Given the description of an element on the screen output the (x, y) to click on. 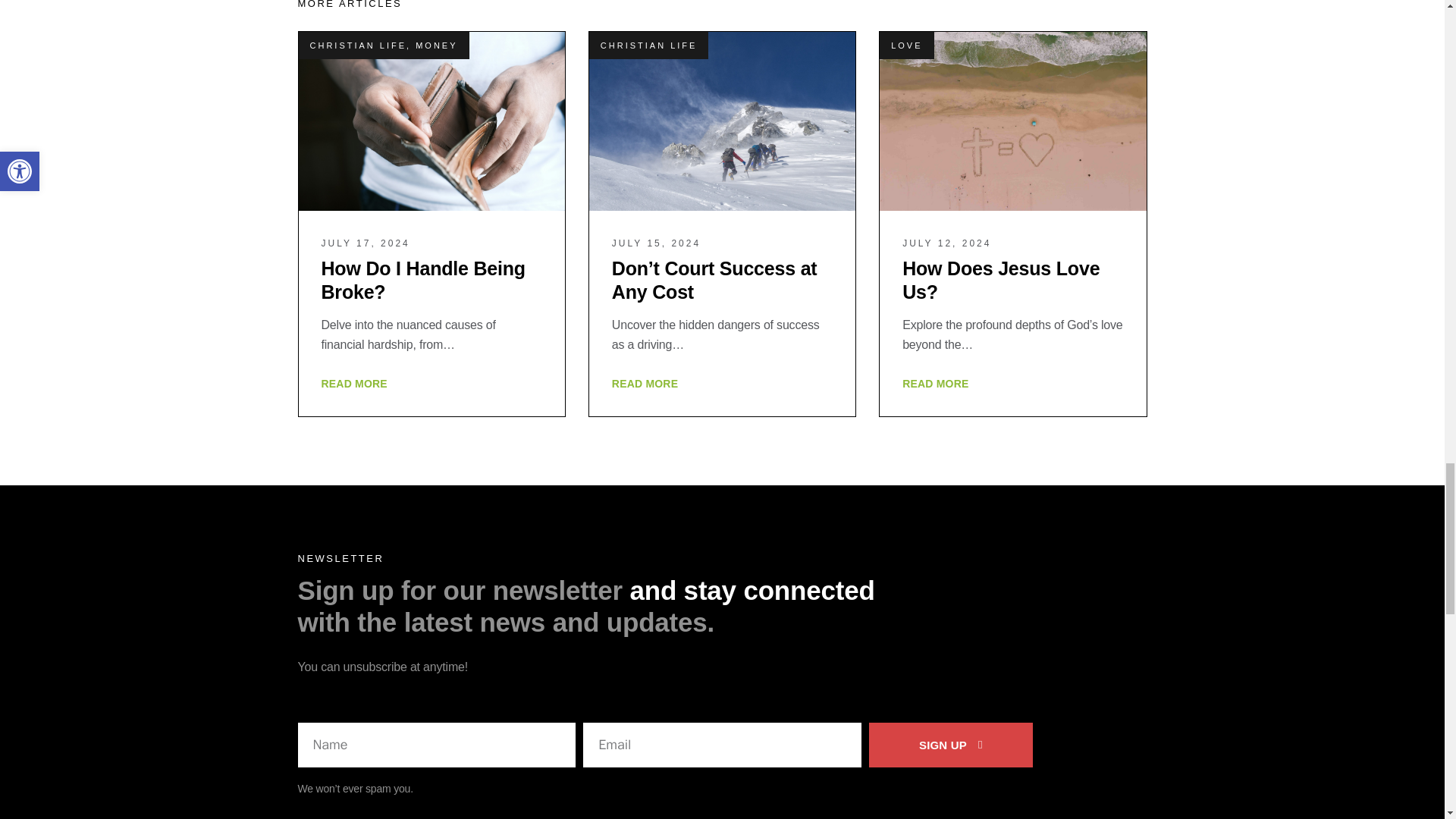
CHRISTIAN LIFE (648, 44)
CHRISTIAN LIFE (357, 44)
LOVE (906, 44)
READ MORE (935, 383)
MORE ARTICLES (349, 4)
READ MORE (644, 383)
READ MORE (354, 383)
SIGN UP (950, 744)
MONEY (435, 44)
